Given the description of an element on the screen output the (x, y) to click on. 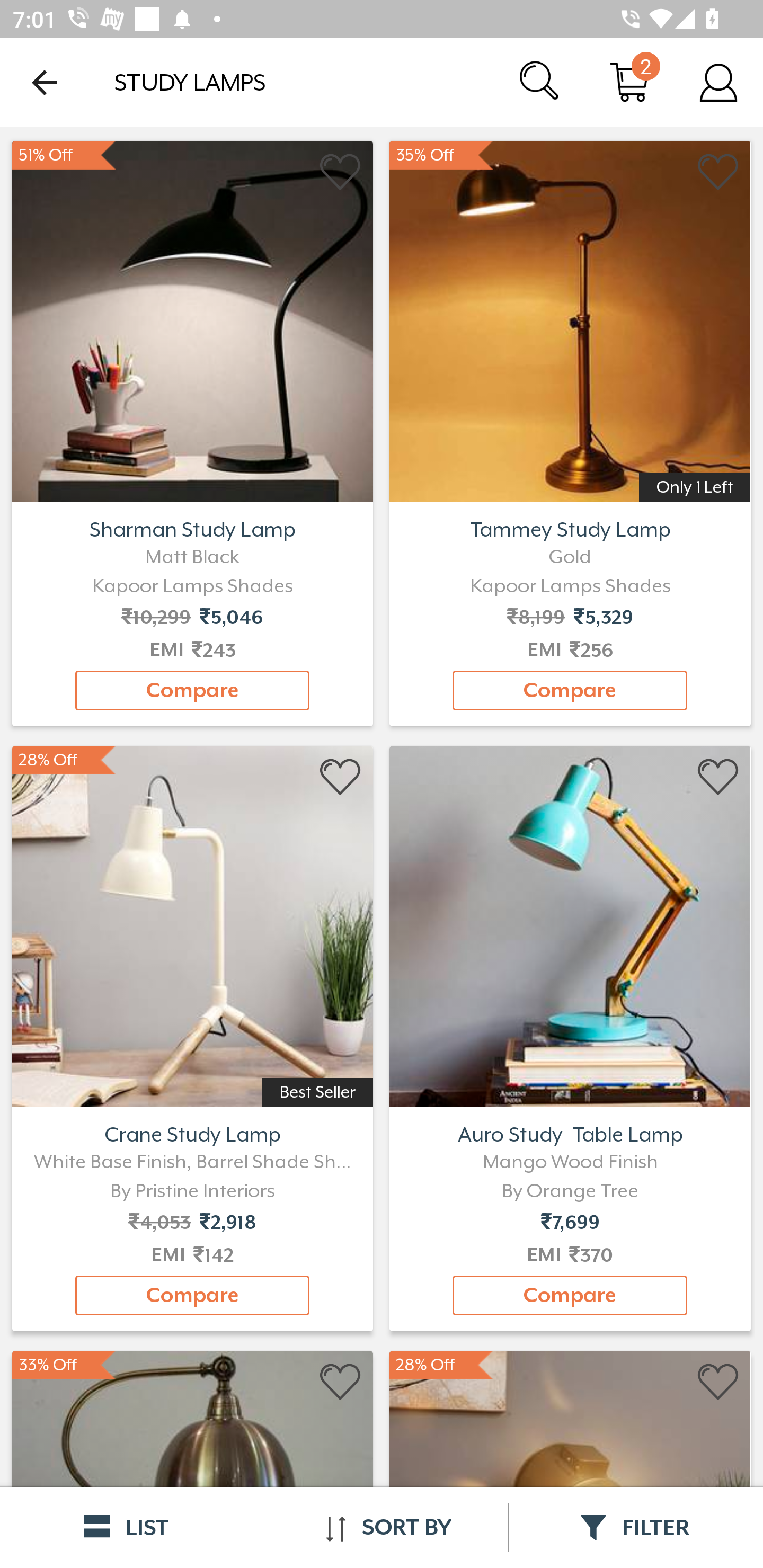
Navigate up (44, 82)
Search (540, 81)
Cart (629, 81)
Account Details (718, 81)
 (341, 172)
 (718, 172)
Compare (192, 690)
Compare (569, 690)
 (341, 777)
 (718, 777)
Compare (192, 1295)
Compare (569, 1295)
 (341, 1382)
 (718, 1382)
 LIST (127, 1527)
SORT BY (381, 1527)
 FILTER (635, 1527)
